Given the description of an element on the screen output the (x, y) to click on. 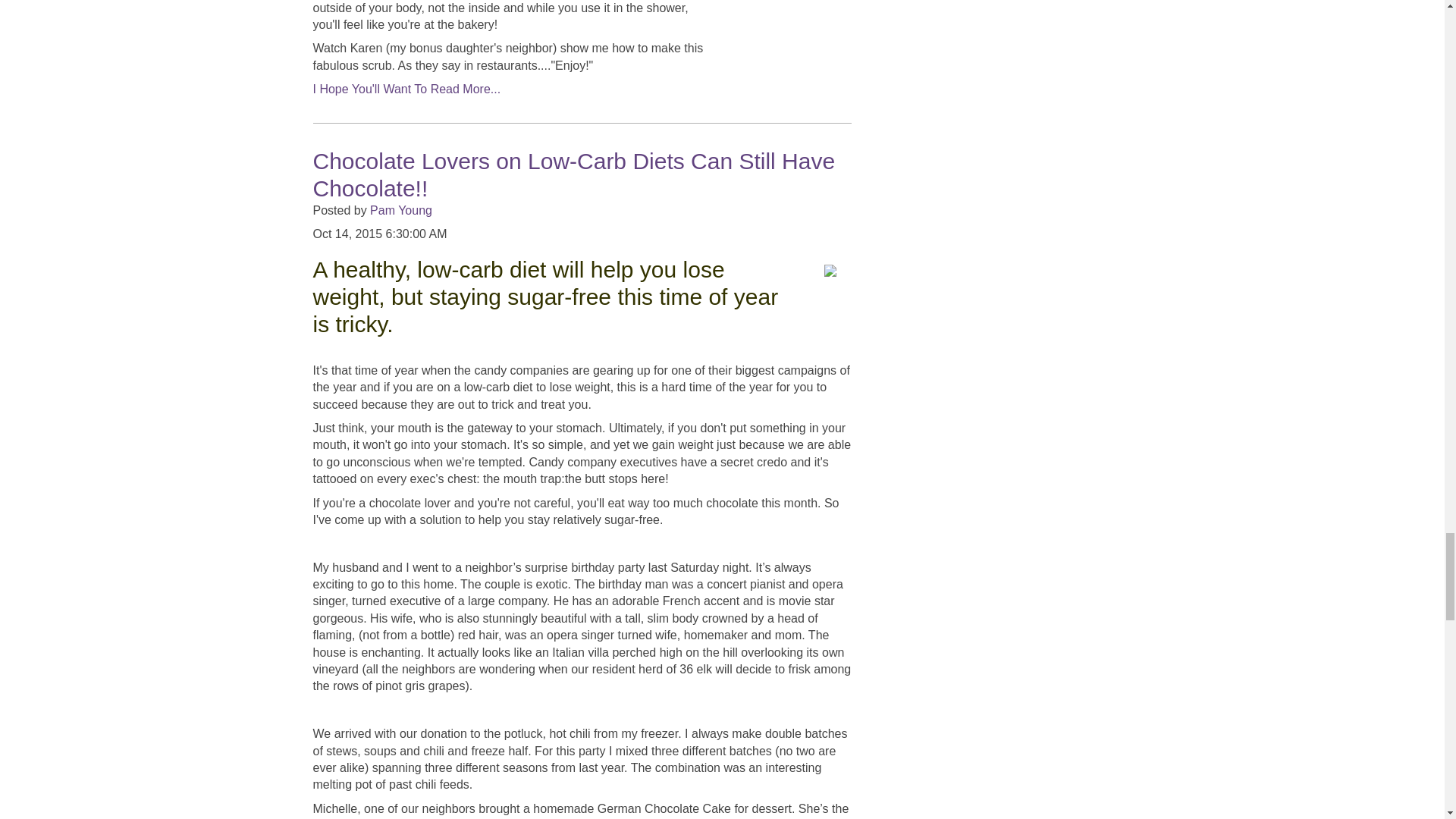
Pam Young Get Organized Guru (782, 31)
